Given the description of an element on the screen output the (x, y) to click on. 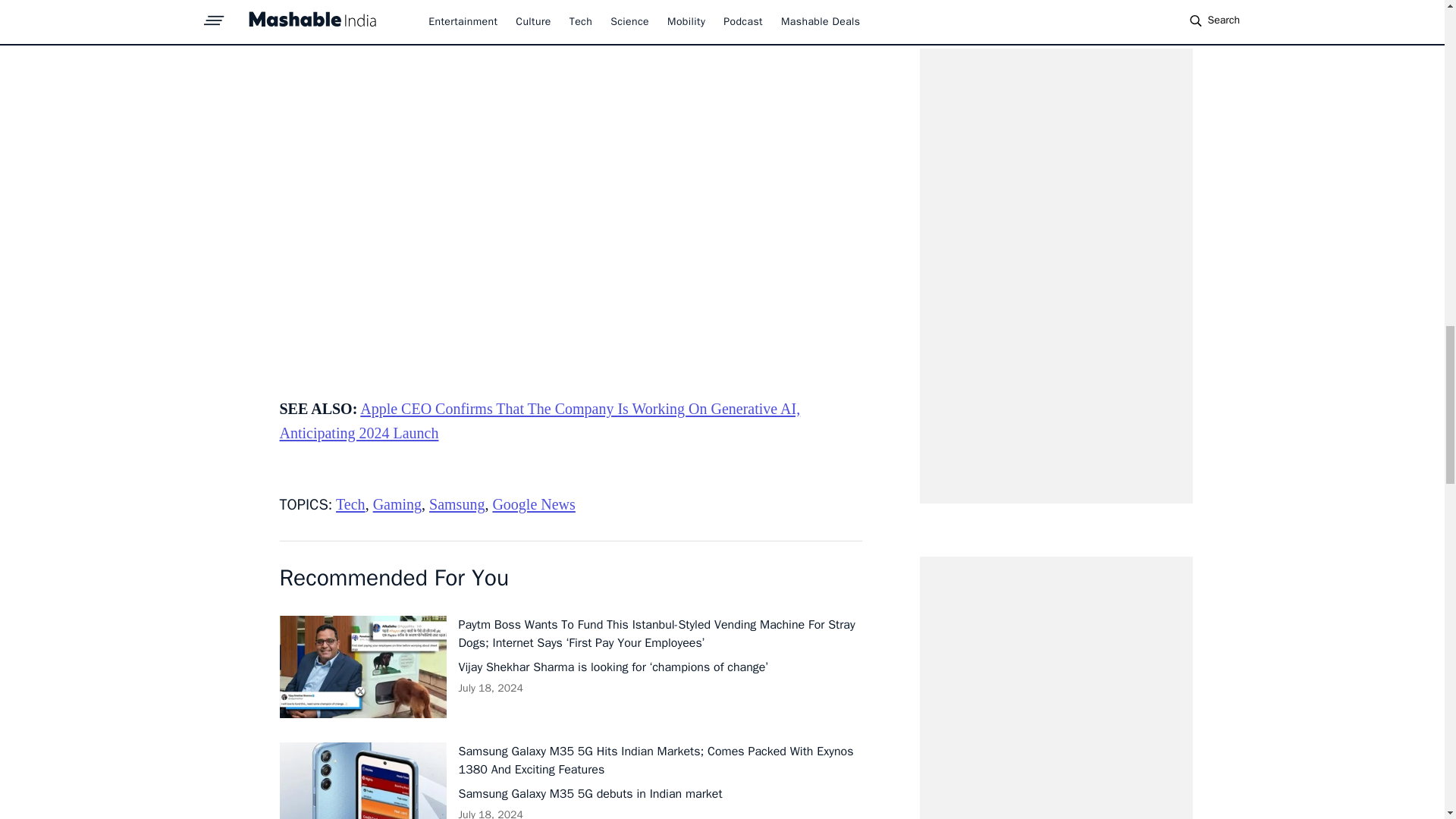
Gaming (397, 504)
Tech (350, 504)
Samsung (456, 504)
Google News (533, 504)
